Given the description of an element on the screen output the (x, y) to click on. 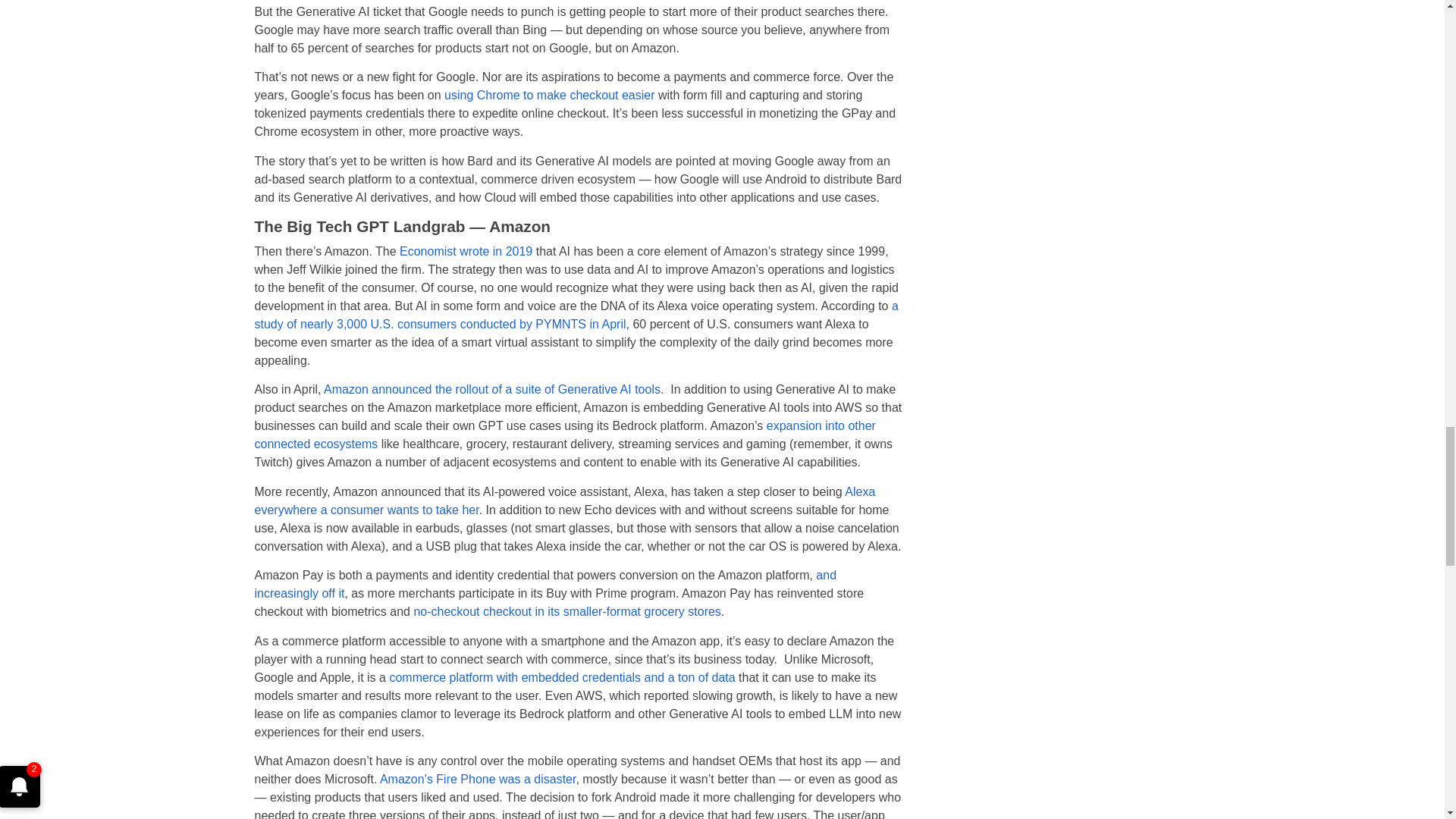
Meta Looks to Launch AR Partnership With Magic Leap (576, 314)
